Given the description of an element on the screen output the (x, y) to click on. 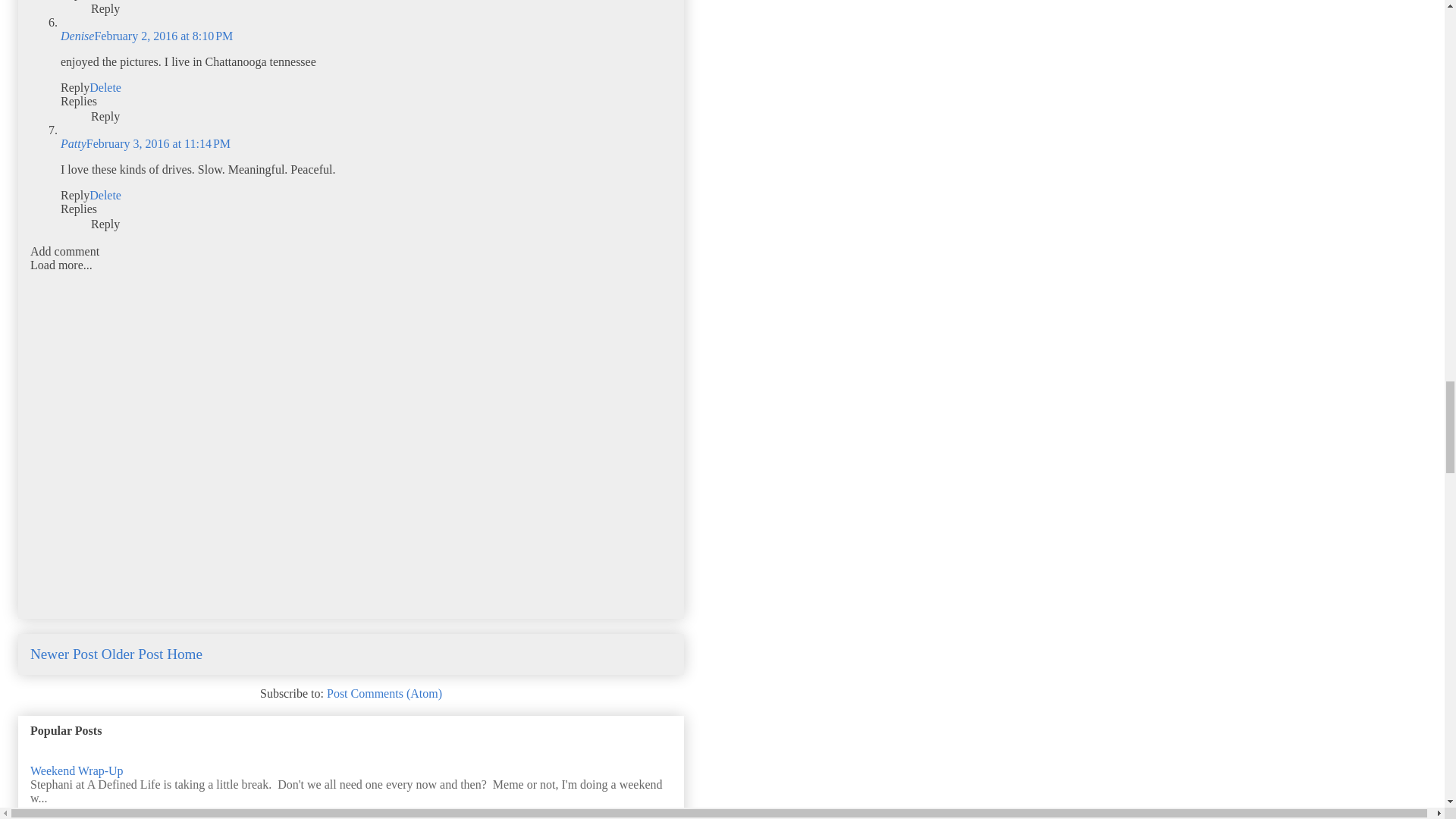
Older Post (132, 653)
Newer Post (63, 653)
